Given the description of an element on the screen output the (x, y) to click on. 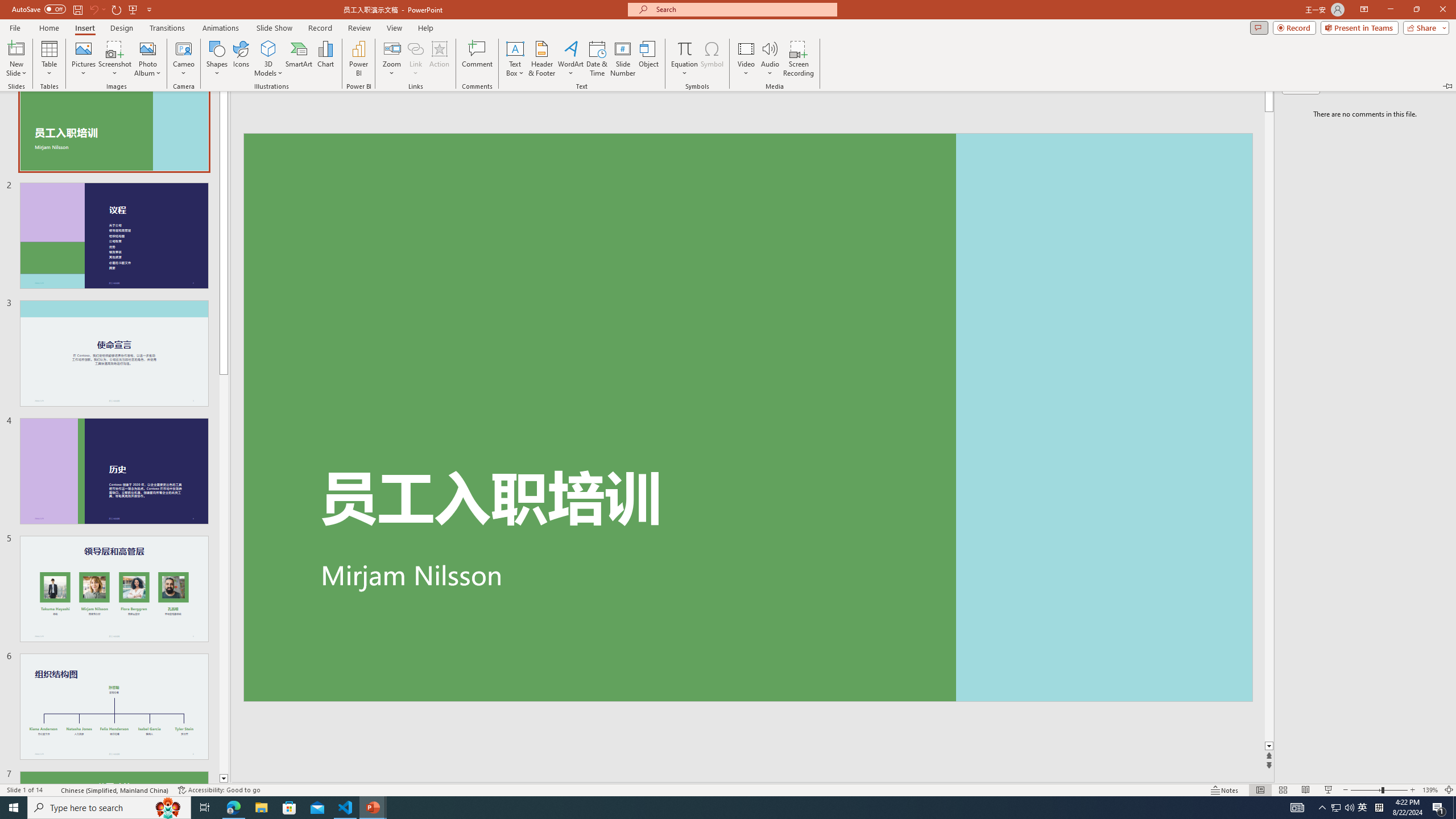
Strikethrough (177, 102)
Decrease Indent (515, 77)
